Given the description of an element on the screen output the (x, y) to click on. 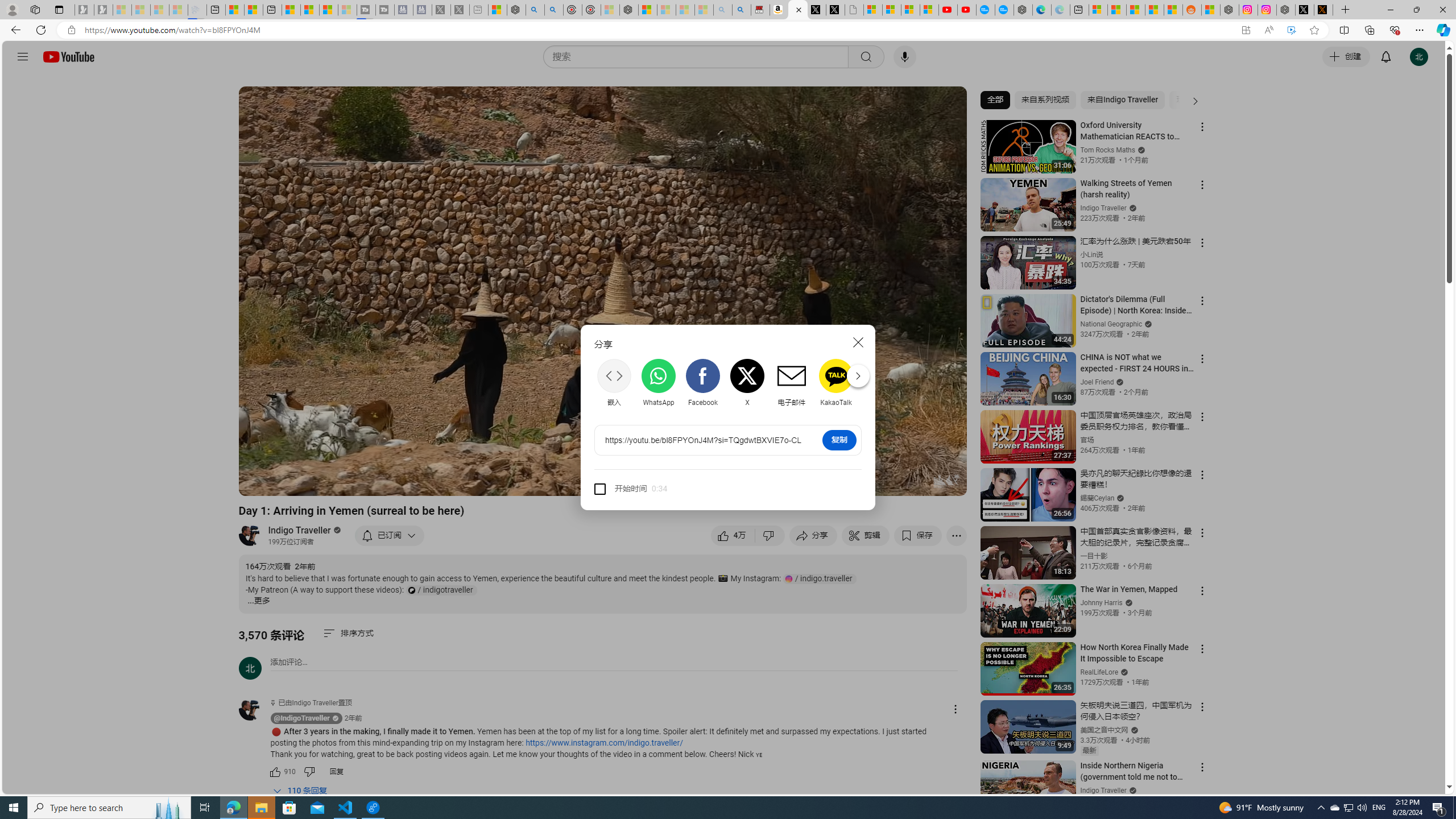
Enhance video (1291, 29)
Class: style-scope tp-yt-paper-input (664, 488)
Nordace - Nordace Siena Is Not An Ordinary Backpack (628, 9)
